Given the description of an element on the screen output the (x, y) to click on. 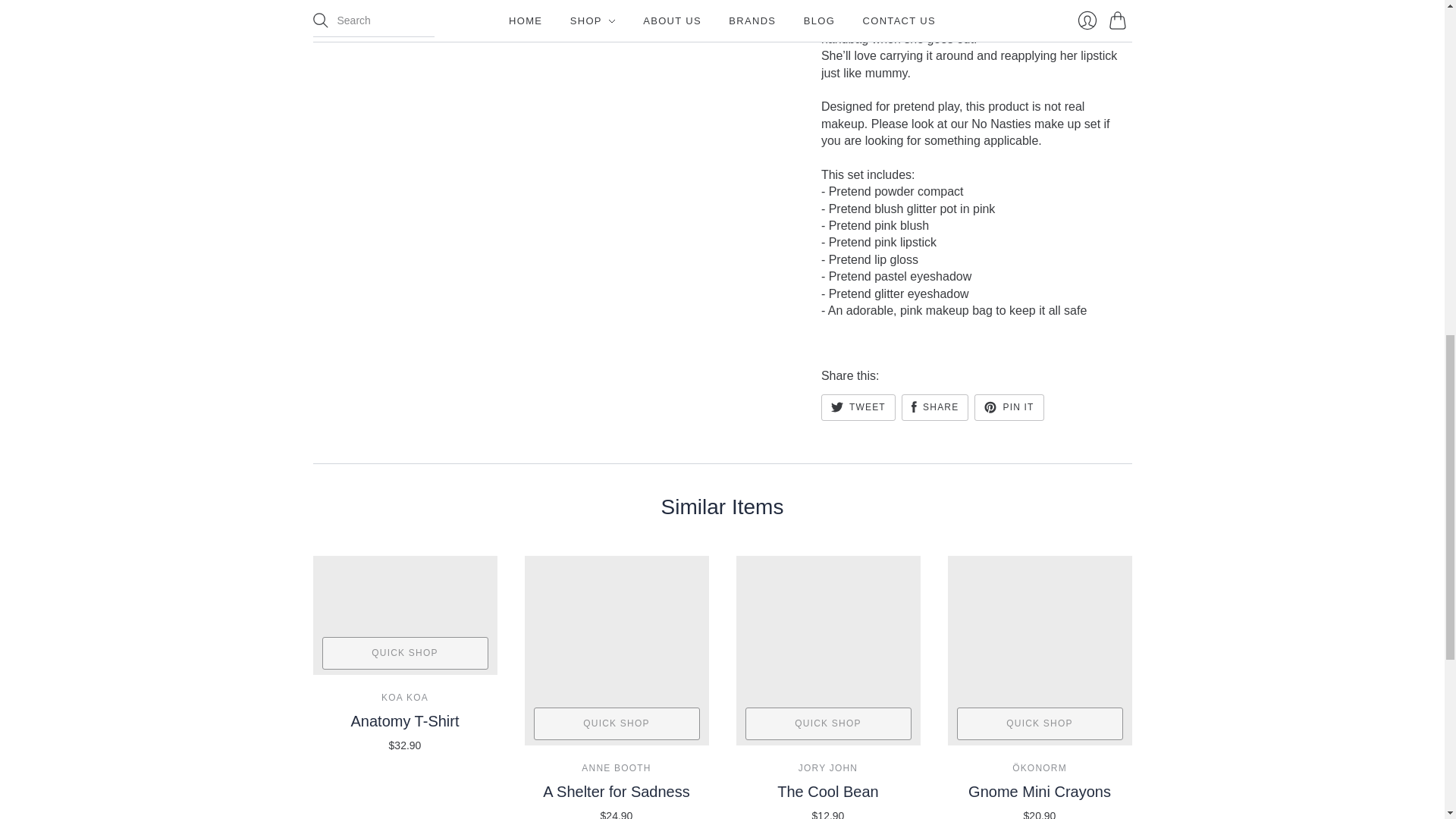
Jory John (827, 767)
Koa Koa (404, 697)
Anne Booth (615, 767)
